Given the description of an element on the screen output the (x, y) to click on. 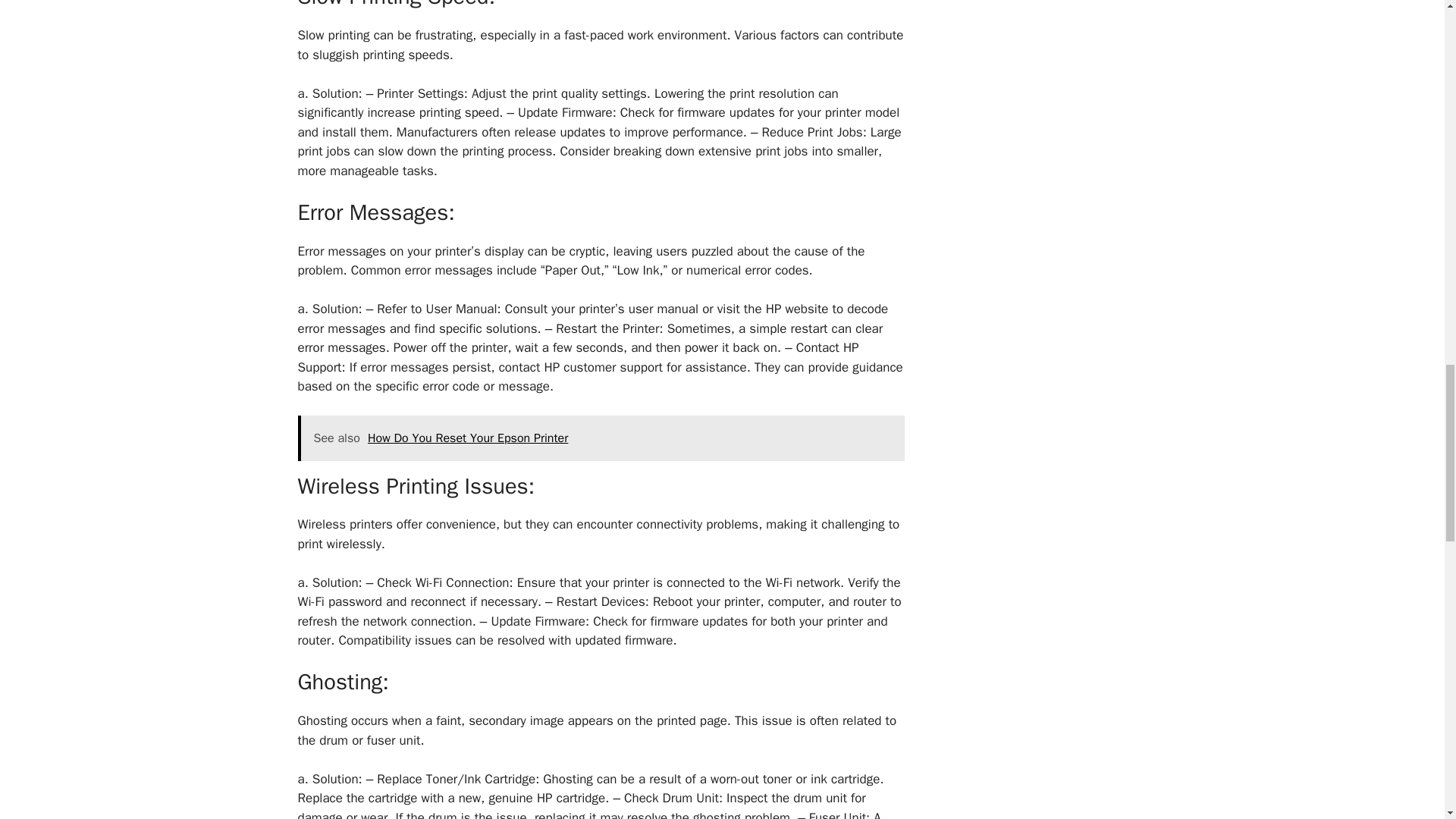
customer support (612, 367)
error code (450, 385)
Compatibility (373, 640)
printing process (506, 150)
HP Support (578, 357)
See also  How Do You Reset Your Epson Printer (600, 438)
HP Support (578, 357)
